Given the description of an element on the screen output the (x, y) to click on. 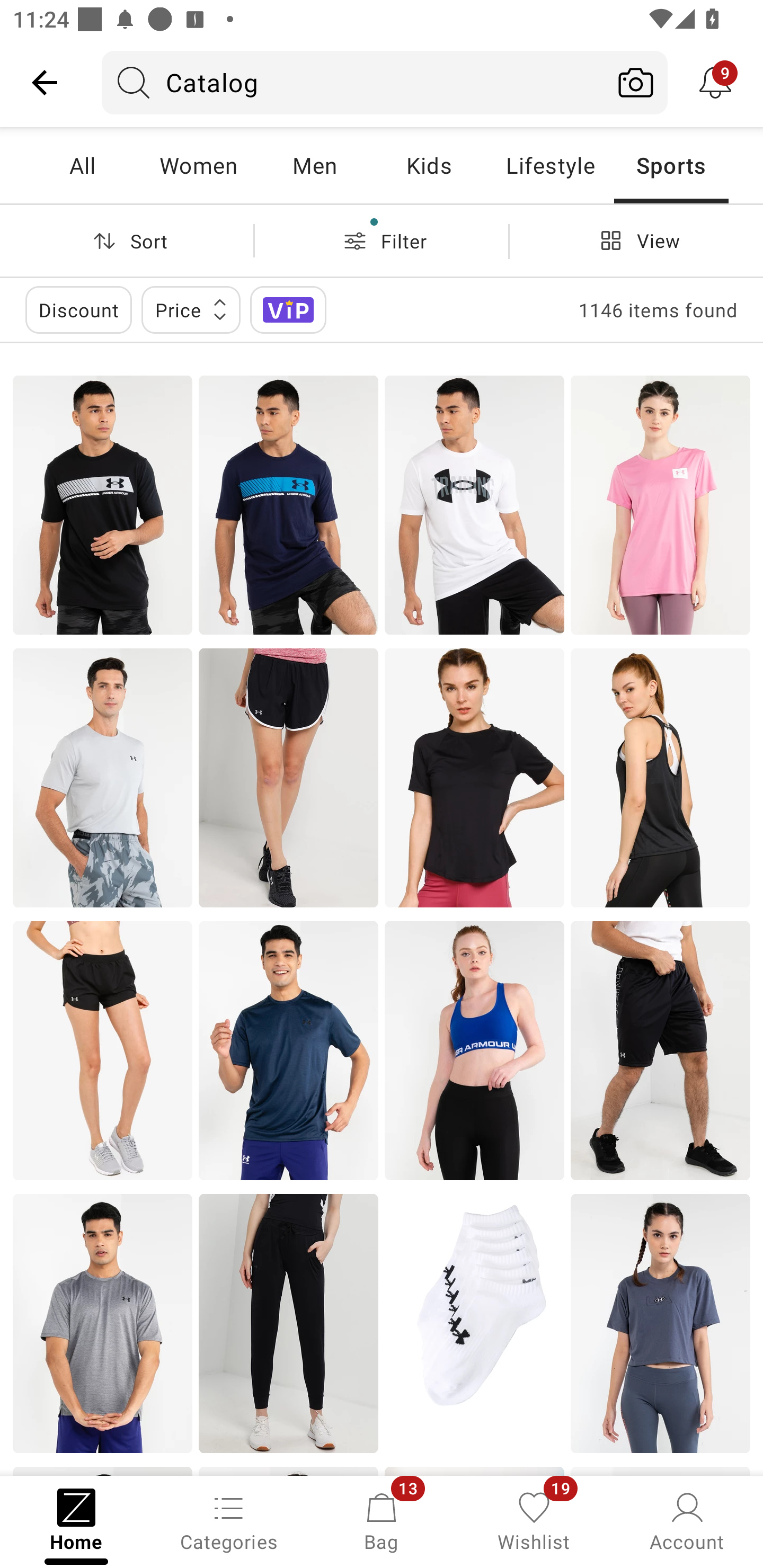
Navigate up (44, 82)
Catalog (352, 82)
All (82, 165)
Women (198, 165)
Men (314, 165)
Kids (428, 165)
Lifestyle (550, 165)
Sort (126, 240)
Filter (381, 240)
View (636, 240)
Discount (78, 309)
Price (190, 309)
Categories (228, 1519)
Bag, 13 new notifications Bag (381, 1519)
Wishlist, 19 new notifications Wishlist (533, 1519)
Account (686, 1519)
